Given the description of an element on the screen output the (x, y) to click on. 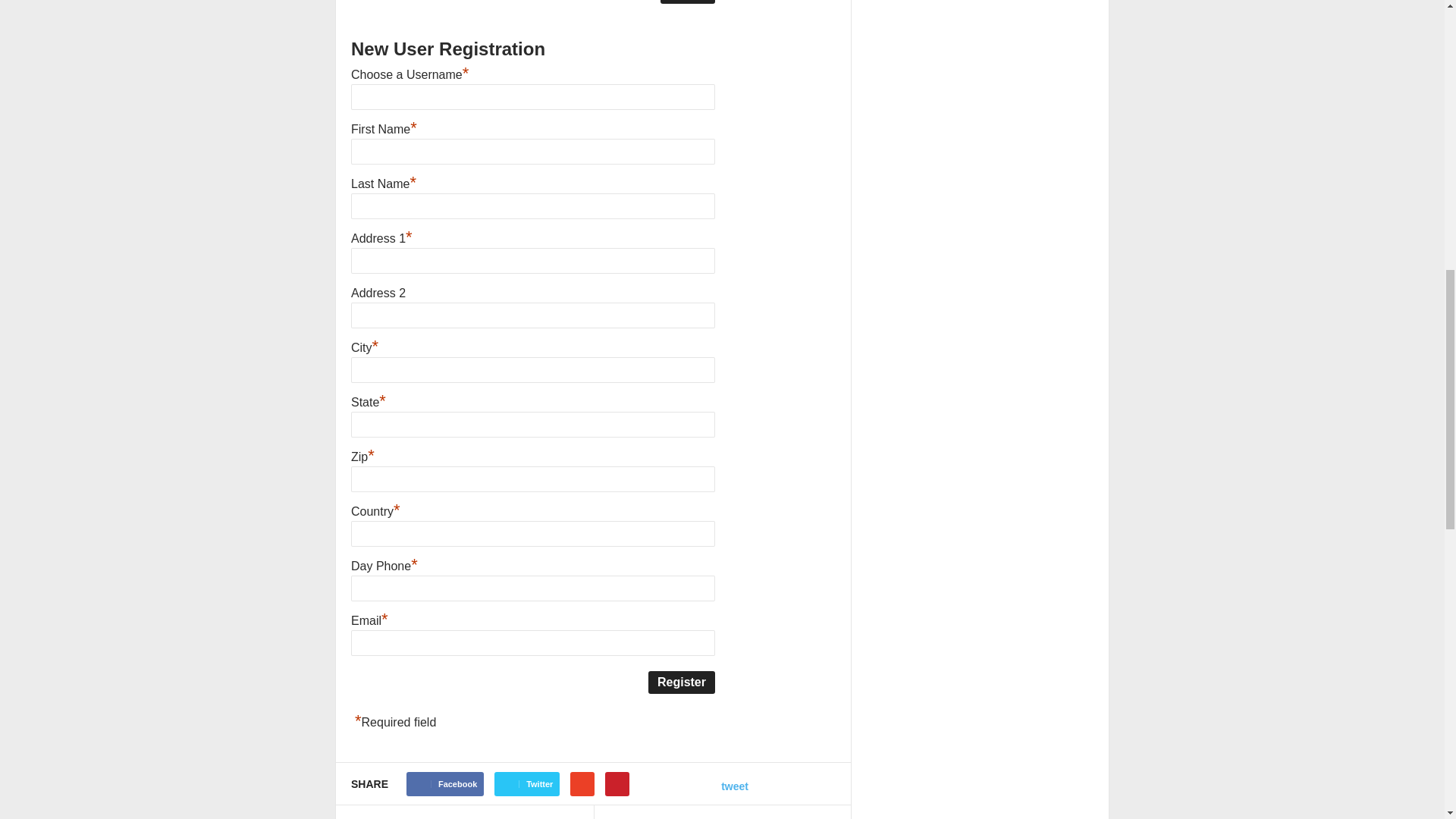
Log In (687, 2)
Register (680, 681)
